Given the description of an element on the screen output the (x, y) to click on. 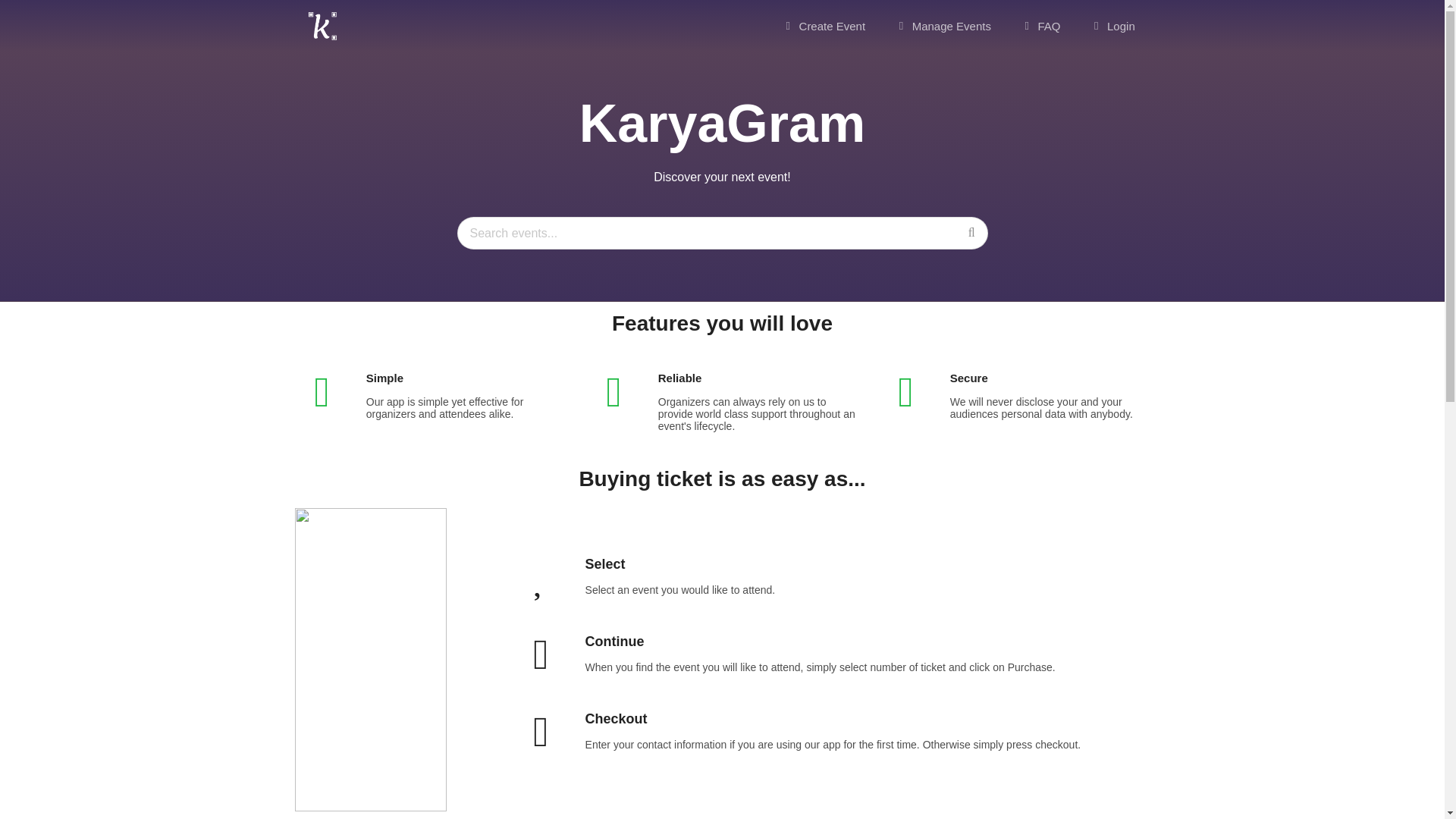
Manage Events (942, 25)
Login (1111, 25)
Create Event (823, 25)
FAQ (1040, 25)
